Given the description of an element on the screen output the (x, y) to click on. 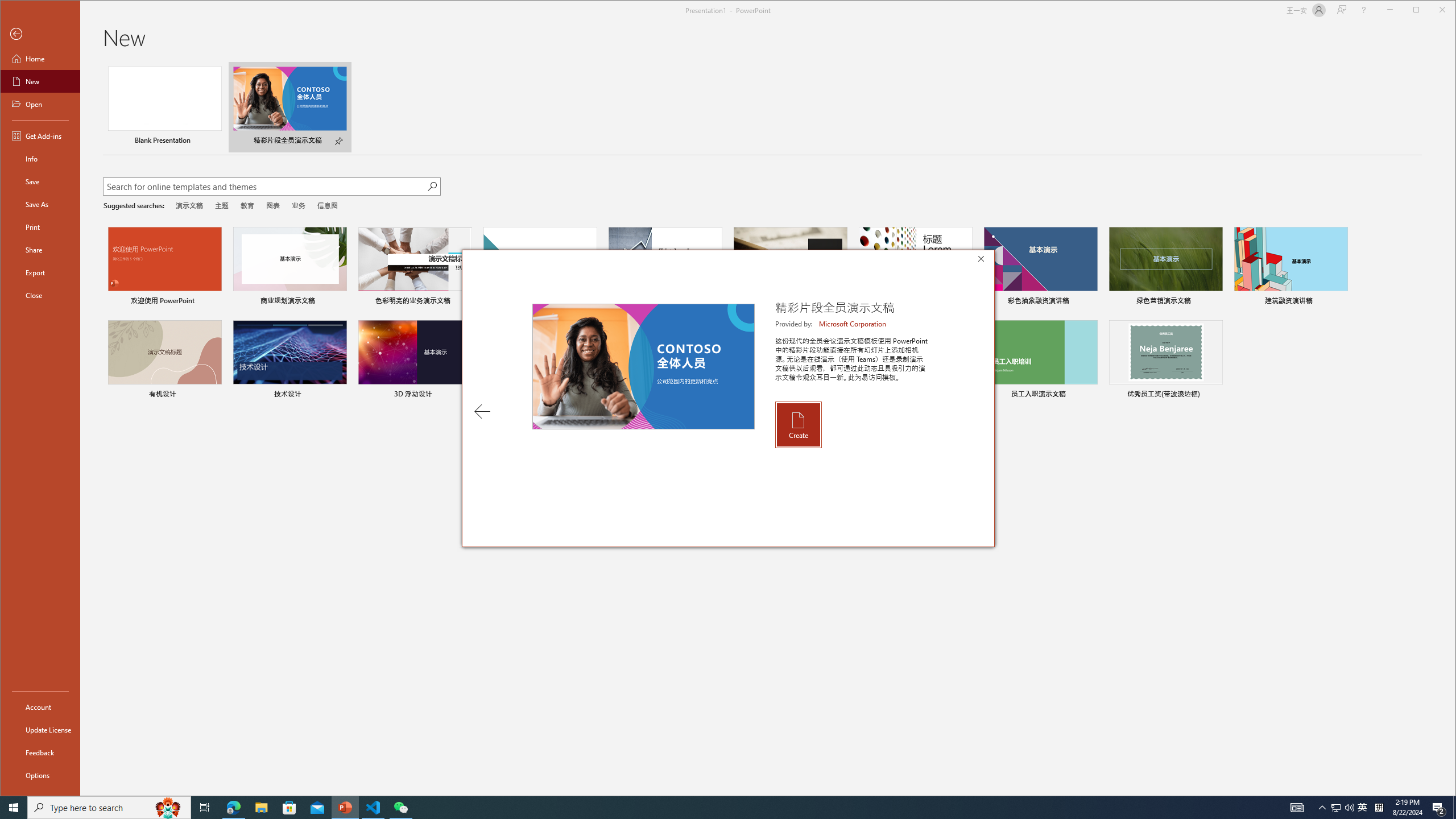
File Explorer (261, 807)
PowerPoint - 1 running window (345, 807)
Start (13, 807)
Print (1362, 807)
User Promoted Notification Area (40, 226)
Maximize (1342, 807)
Open (1432, 11)
Action Center, 2 new notifications (40, 103)
Class: NetUIScrollBar (1439, 807)
Tray Input Indicator - Chinese (Simplified, China) (1450, 428)
Search for online templates and themes (1378, 807)
